Given the description of an element on the screen output the (x, y) to click on. 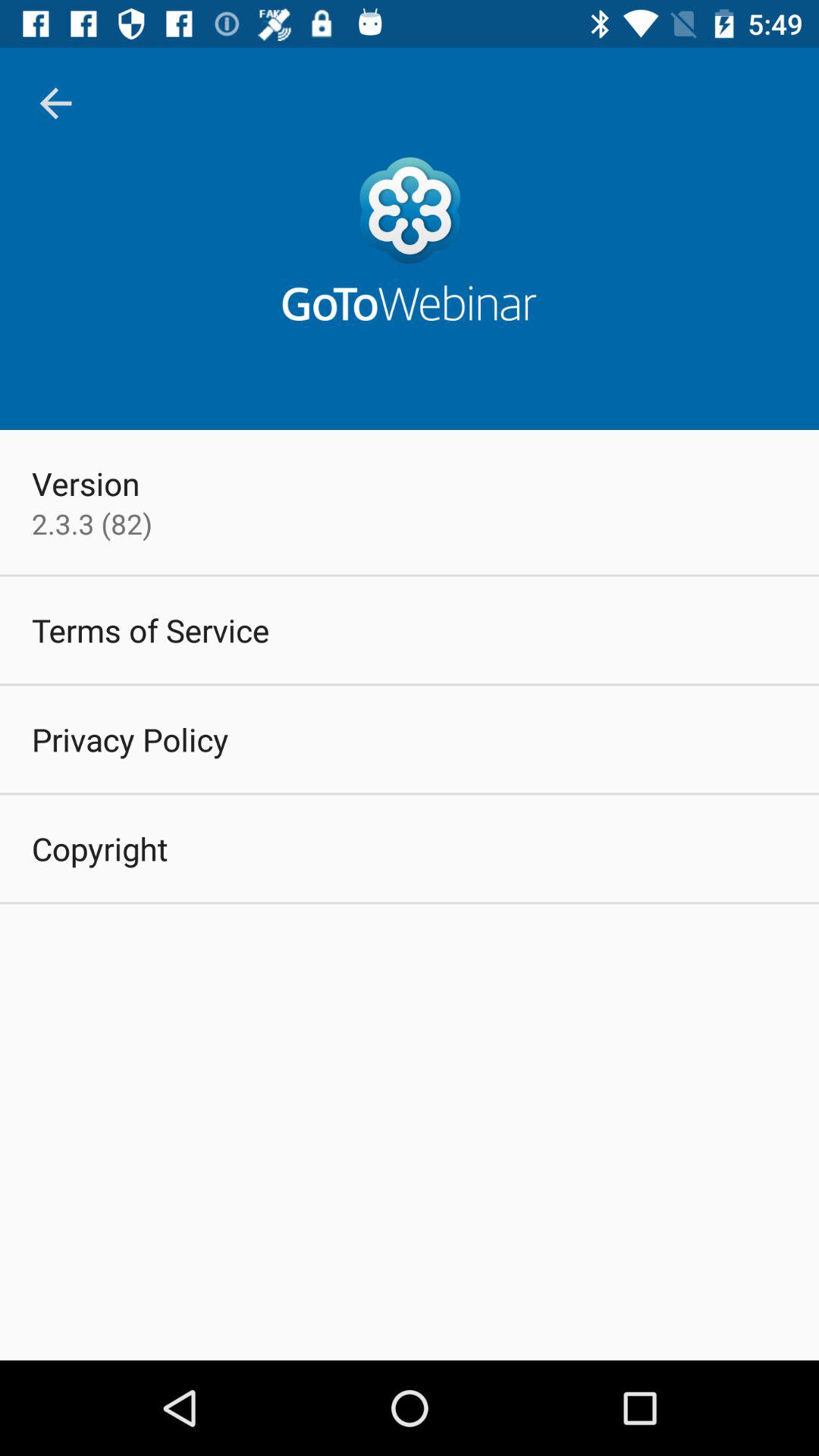
press icon above 2 3 3 item (85, 483)
